Given the description of an element on the screen output the (x, y) to click on. 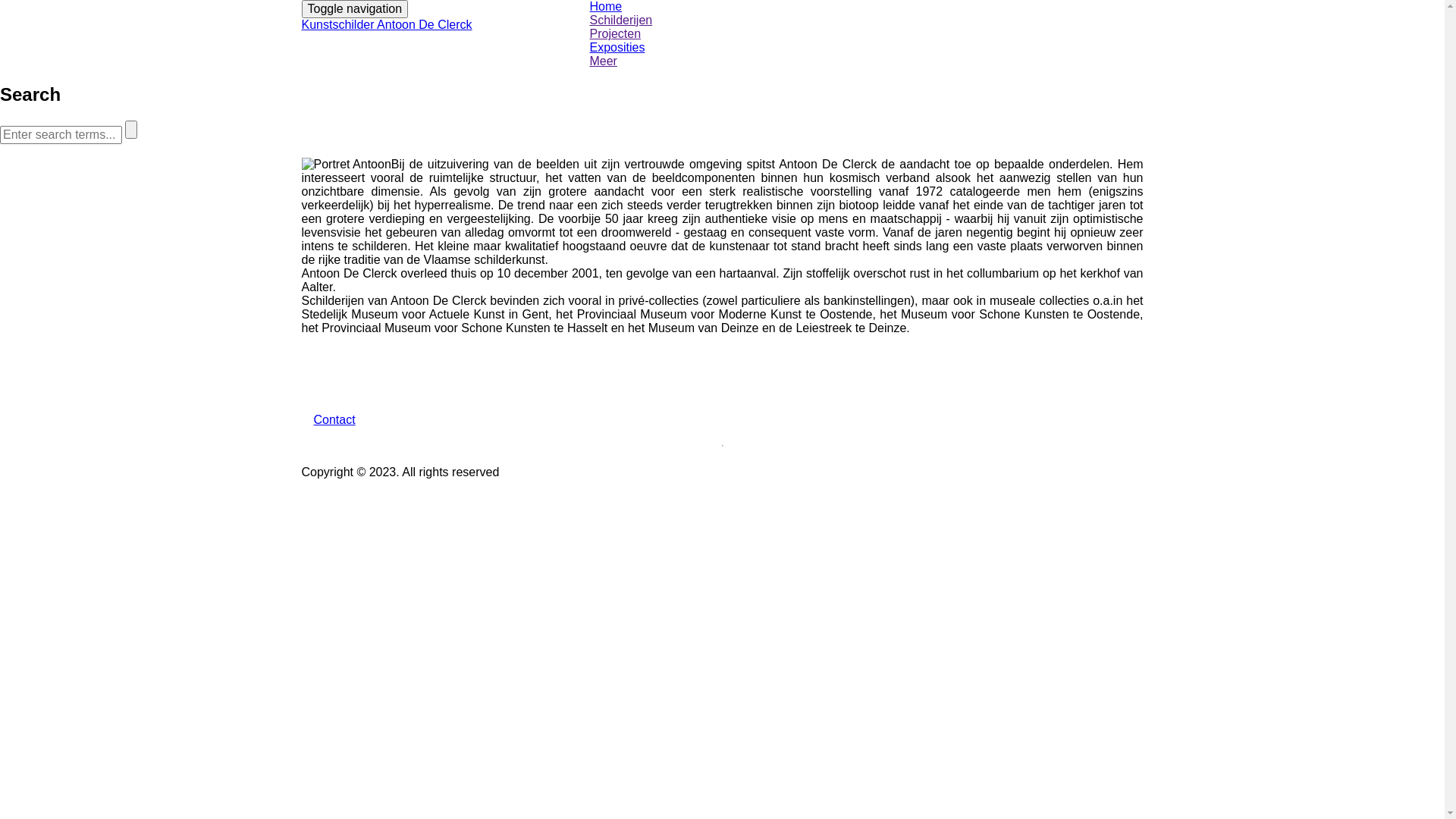
Schilderijen Element type: text (865, 20)
Overslaan en naar de inhoud gaan Element type: text (0, 0)
Exposities Element type: text (865, 47)
Contact Element type: text (334, 419)
Home Element type: text (865, 6)
Meer Element type: text (865, 61)
Projecten Element type: text (865, 33)
Geef de woorden op waarnaar u wilt zoeken. Element type: hover (61, 134)
Kunstschilder Antoon De Clerck Element type: text (386, 24)
Toggle navigation Element type: text (354, 9)
